Given the description of an element on the screen output the (x, y) to click on. 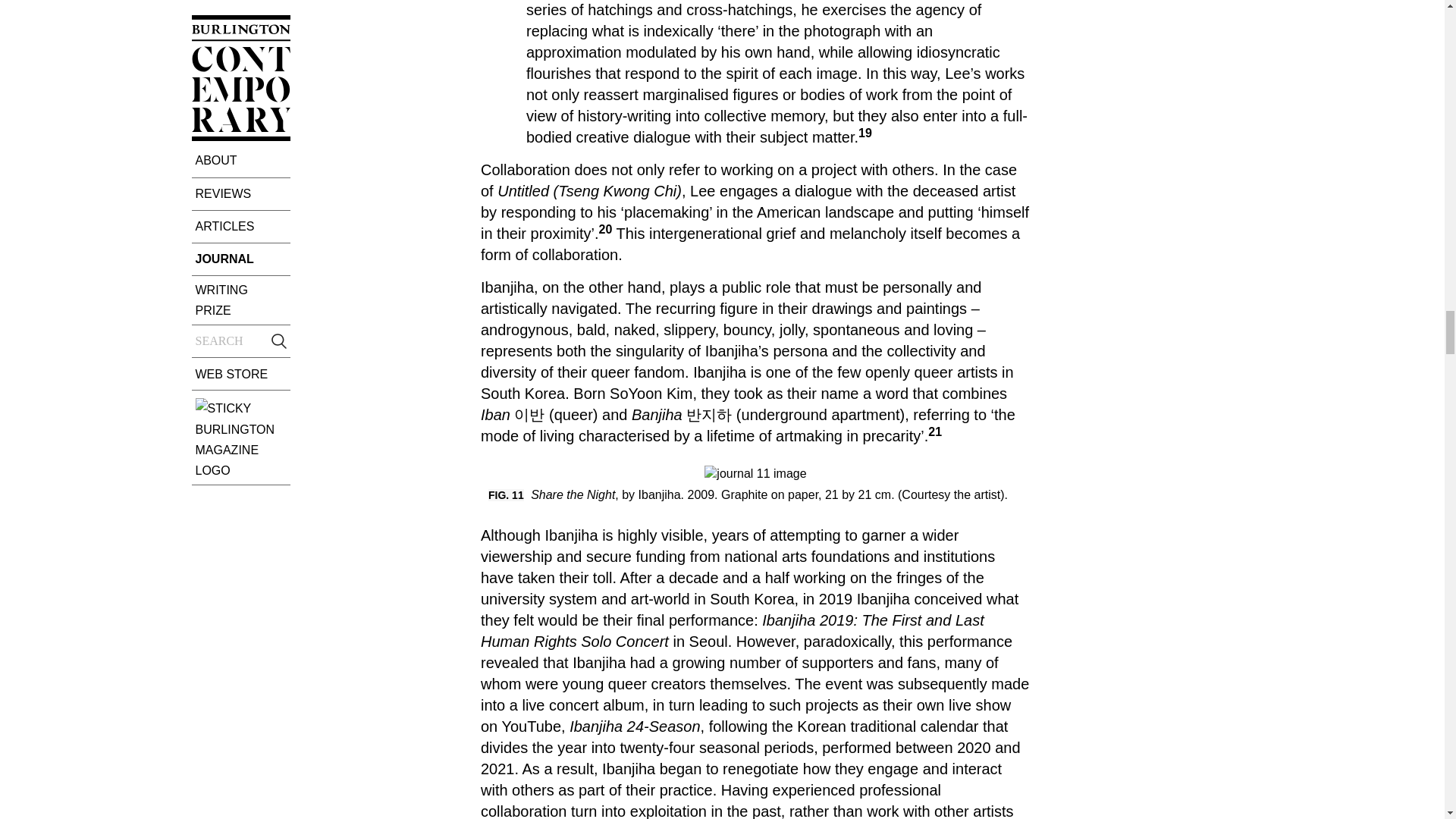
19 (865, 132)
